Given the description of an element on the screen output the (x, y) to click on. 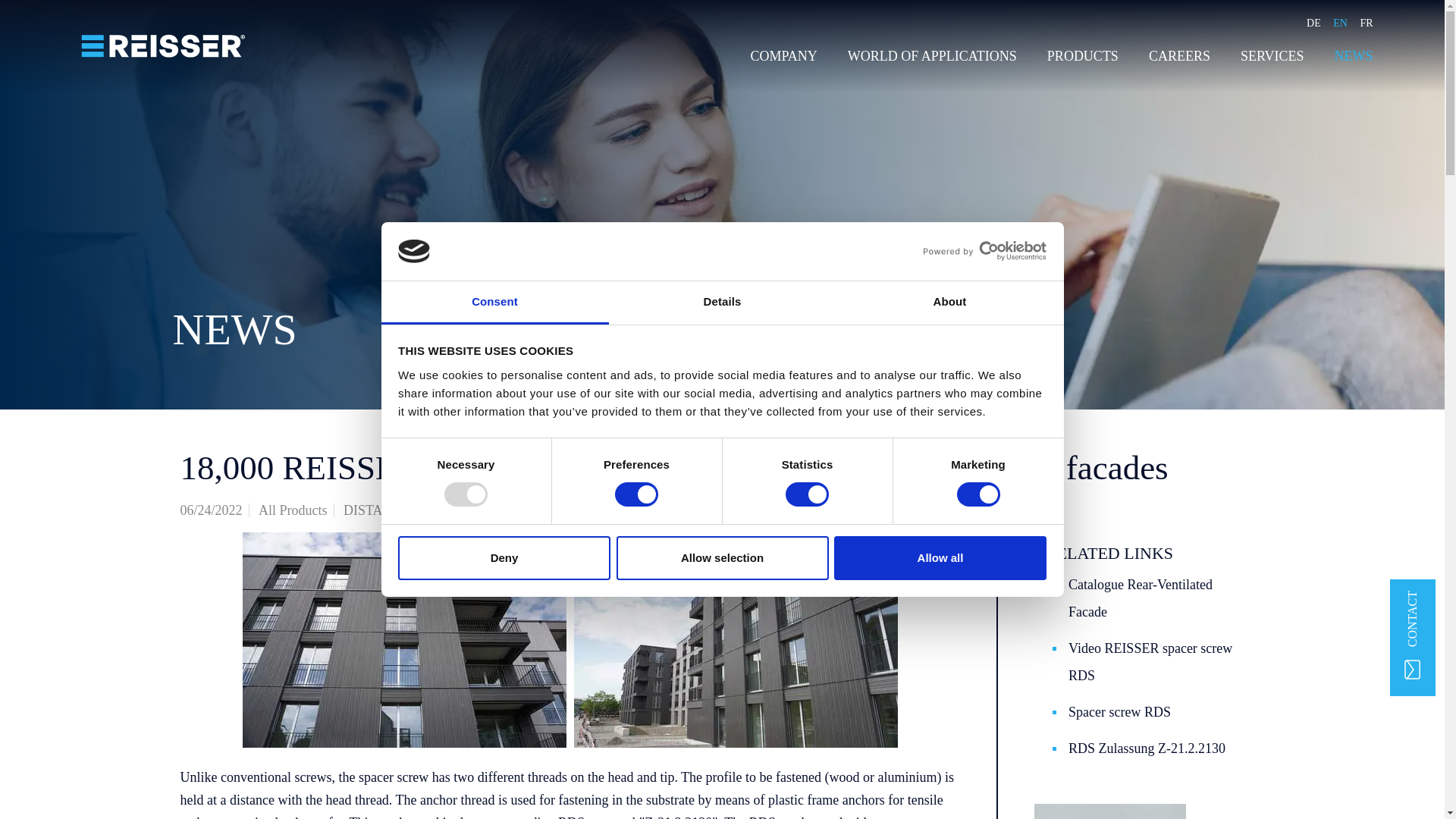
Allow selection (721, 557)
Deny (503, 557)
English (1340, 22)
French (1366, 22)
World of Applications (939, 56)
World of Applications (931, 56)
DE (1313, 22)
About (948, 302)
Deutsch (1313, 22)
Details (721, 302)
